Given the description of an element on the screen output the (x, y) to click on. 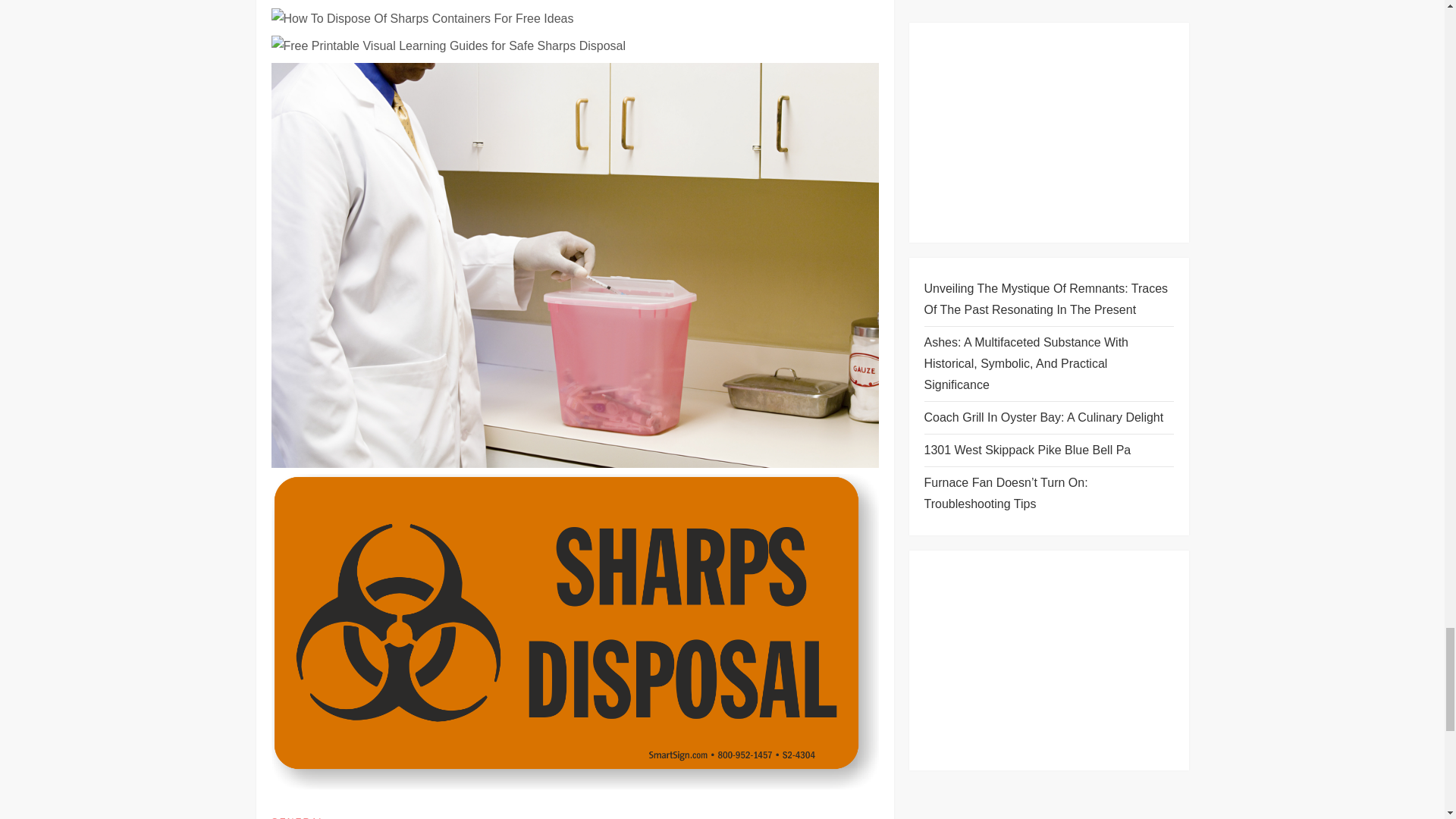
GENERAL (297, 817)
